Given the description of an element on the screen output the (x, y) to click on. 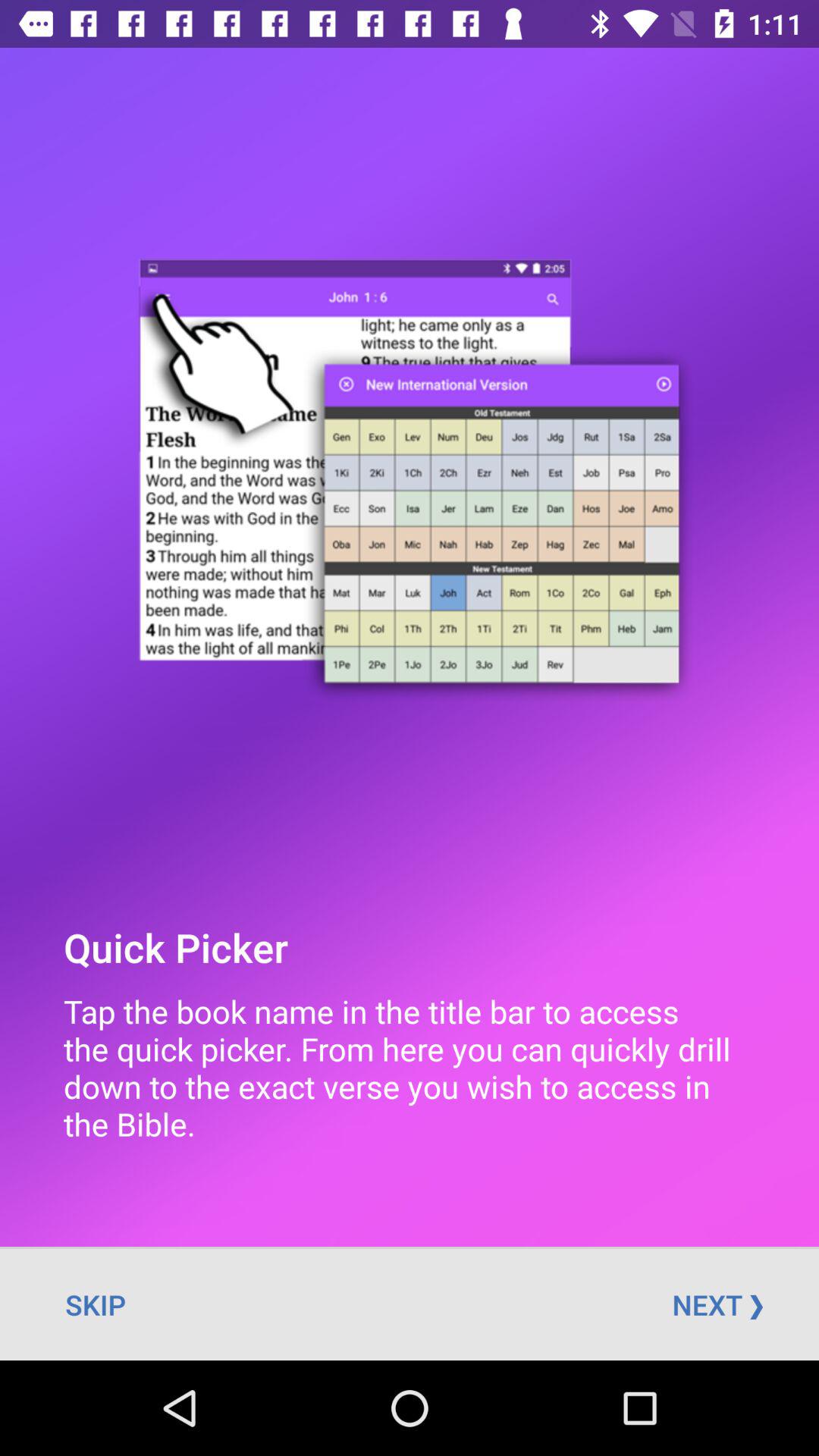
select the skip item (95, 1304)
